Given the description of an element on the screen output the (x, y) to click on. 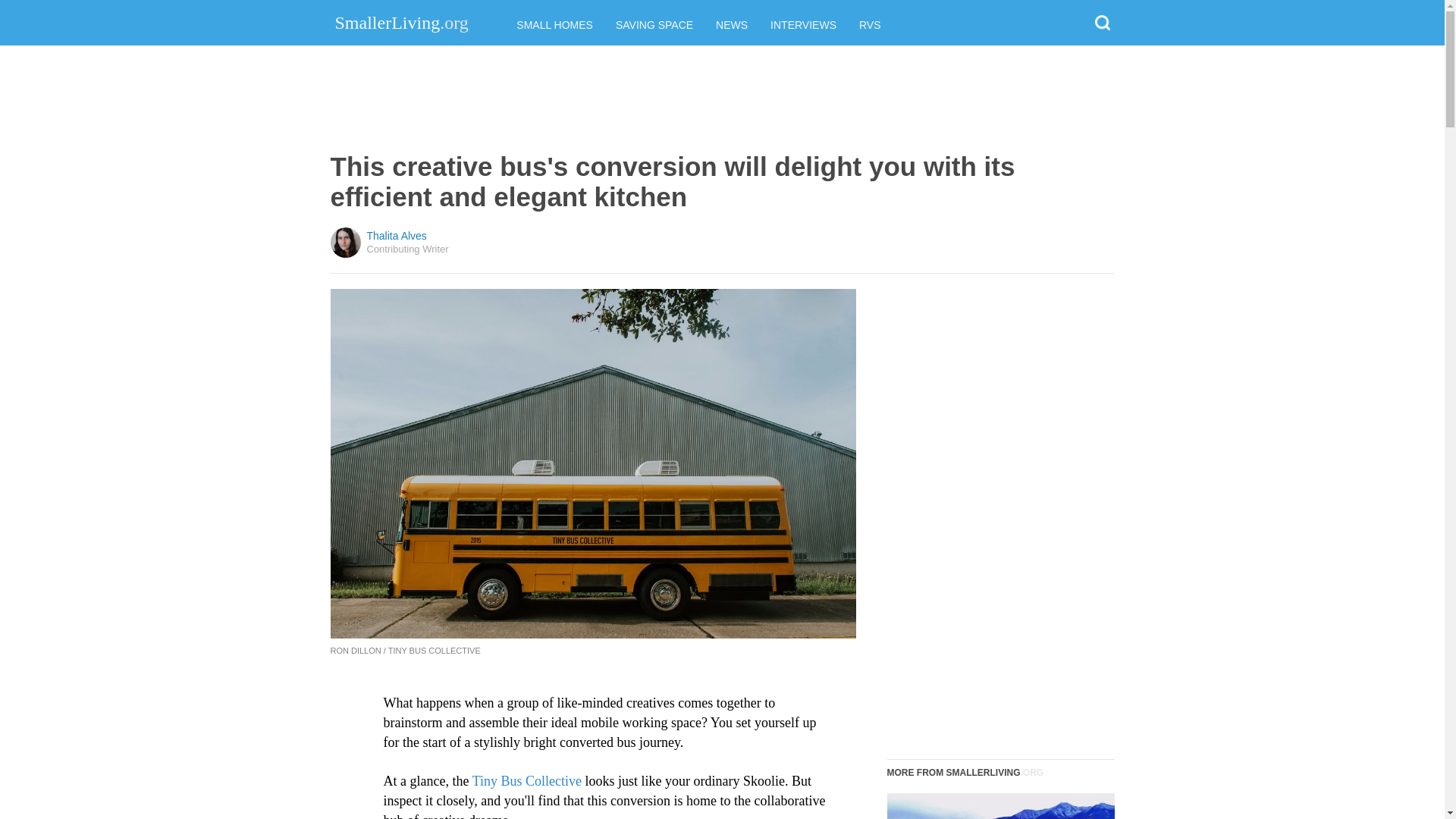
SAVING SPACE (654, 24)
Advertisement (719, 98)
Tiny Bus Collective (524, 780)
SmallerLiving.org (401, 21)
RVS (869, 24)
INTERVIEWS (802, 24)
SMALL HOMES (554, 24)
NEWS (732, 24)
